Given the description of an element on the screen output the (x, y) to click on. 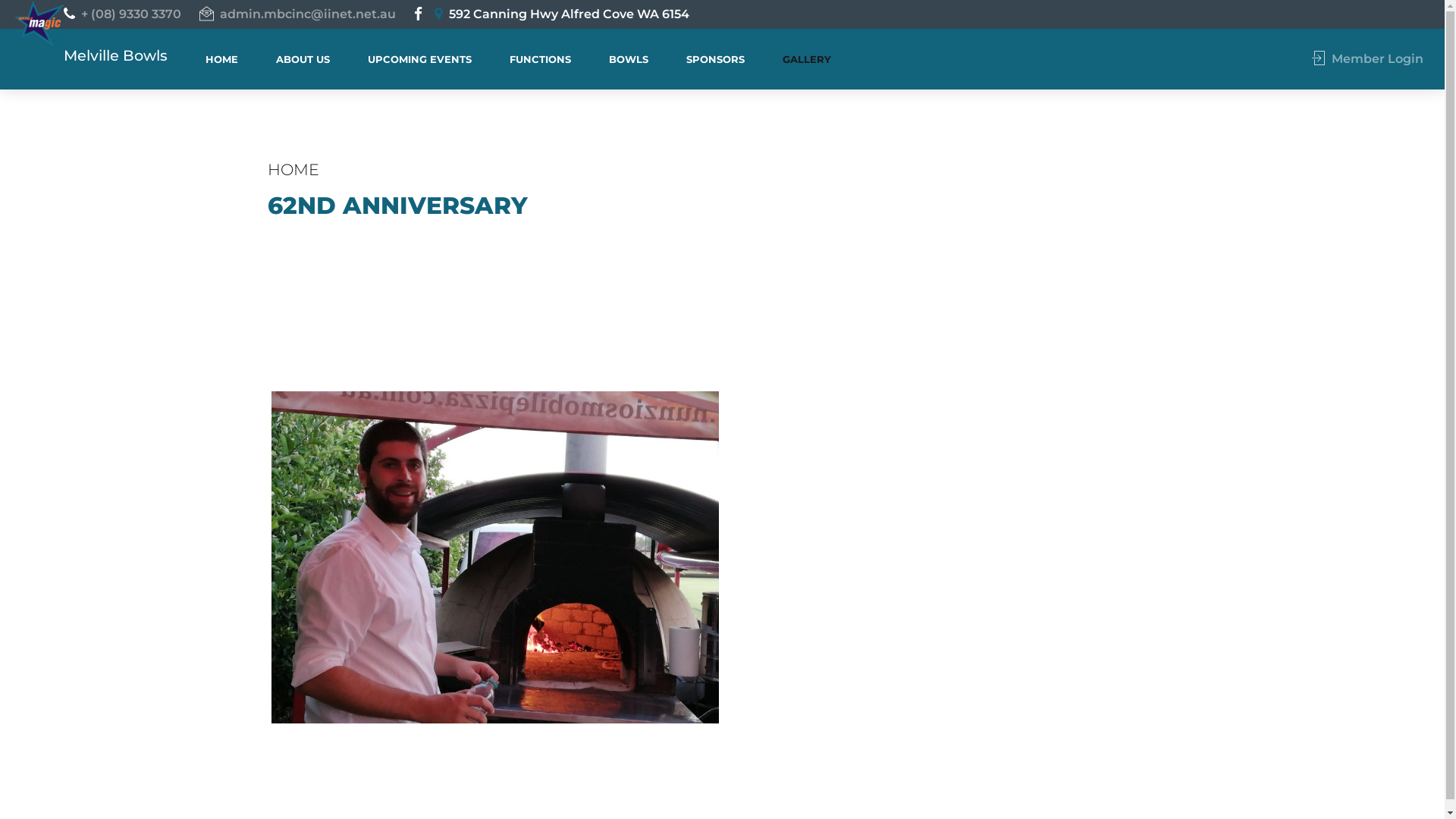
Member Login Element type: text (1370, 58)
SPONSORS Element type: text (715, 58)
UPCOMING EVENTS Element type: text (419, 58)
GALLERY Element type: text (806, 58)
ABOUT US Element type: text (302, 58)
Melville Bowls Element type: text (115, 55)
HOME Element type: text (221, 58)
FUNCTIONS Element type: text (540, 58)
HOME Element type: text (292, 169)
admin.mbcinc@iinet.net.au Element type: text (300, 14)
MelvilleBowlsClub62Ann_11 Element type: hover (500, 563)
BOWLS Element type: text (628, 58)
+ (08) 9330 3370 Element type: text (125, 14)
592 Canning Hwy Alfred Cove WA 6154 Element type: text (564, 14)
